Given the description of an element on the screen output the (x, y) to click on. 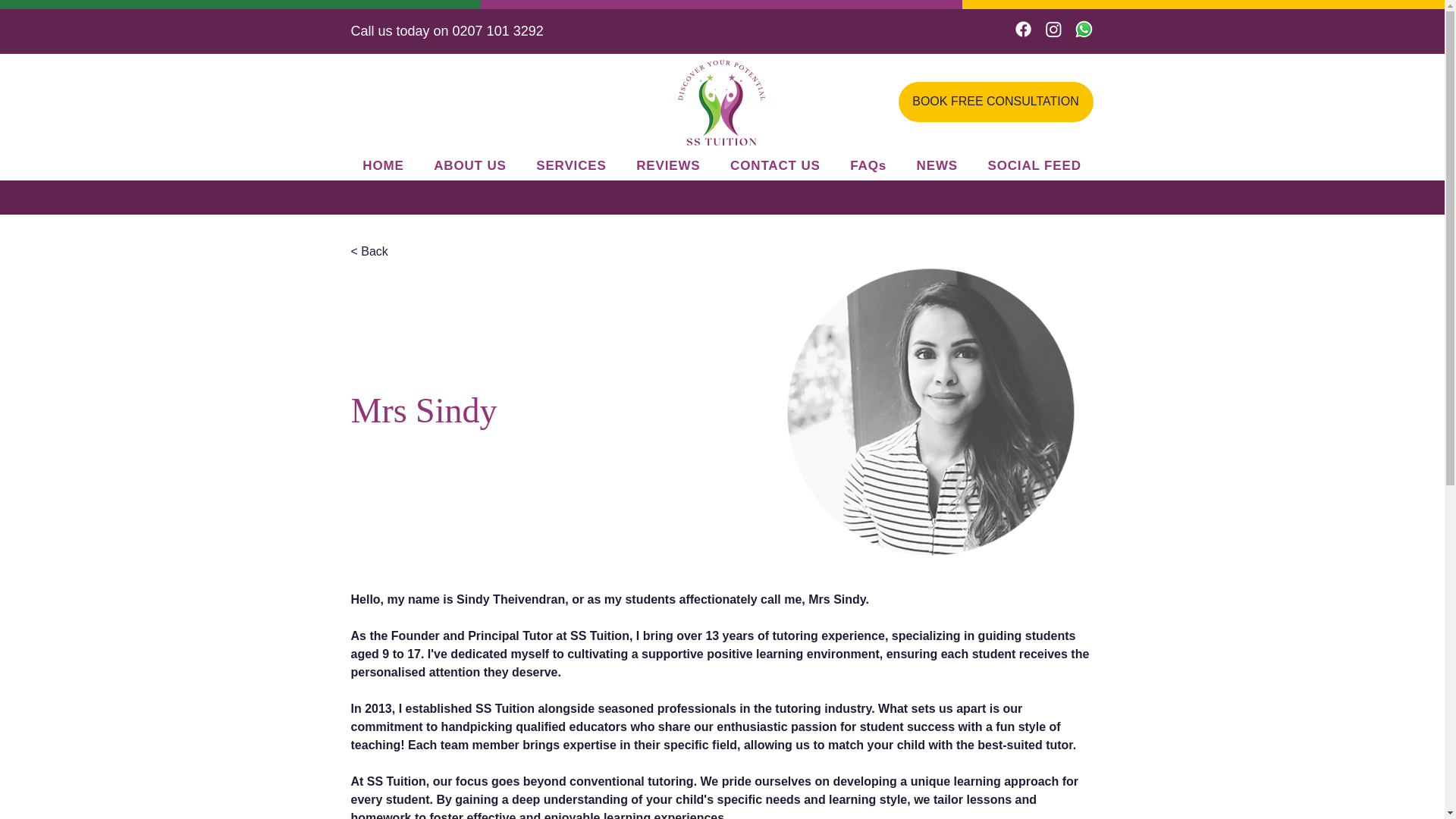
CONTACT US (774, 165)
HOME (382, 165)
Call us today on 0207 101 3292 (446, 30)
SERVICES (570, 165)
SOCIAL FEED (1034, 165)
ABOUT US (470, 165)
REVIEWS (667, 165)
Sindy.png (929, 411)
FAQs (868, 165)
NEWS (936, 165)
